Given the description of an element on the screen output the (x, y) to click on. 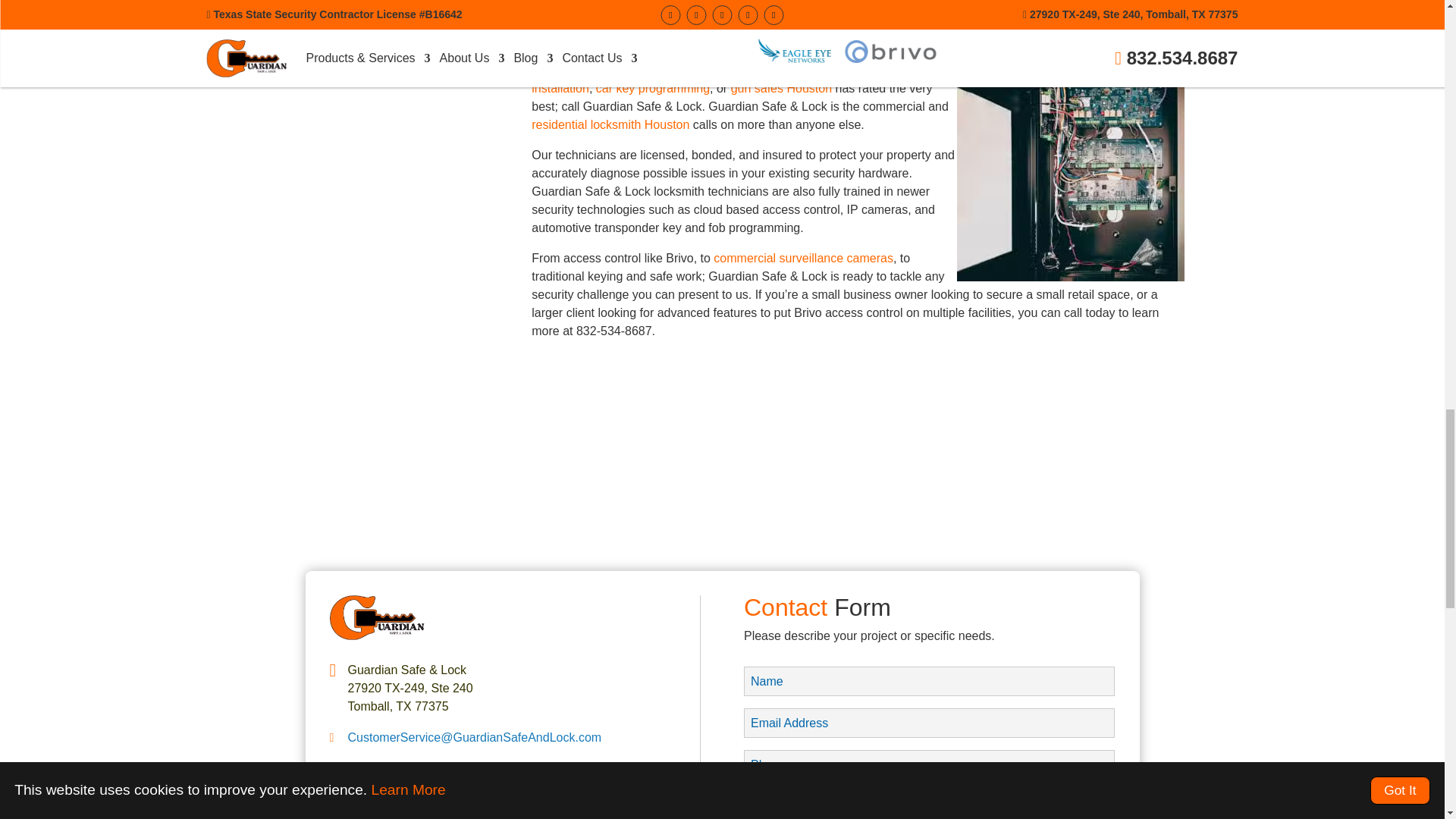
gsl-logo (376, 635)
Brivo Access Control System Installation 3 (1070, 169)
